Given the description of an element on the screen output the (x, y) to click on. 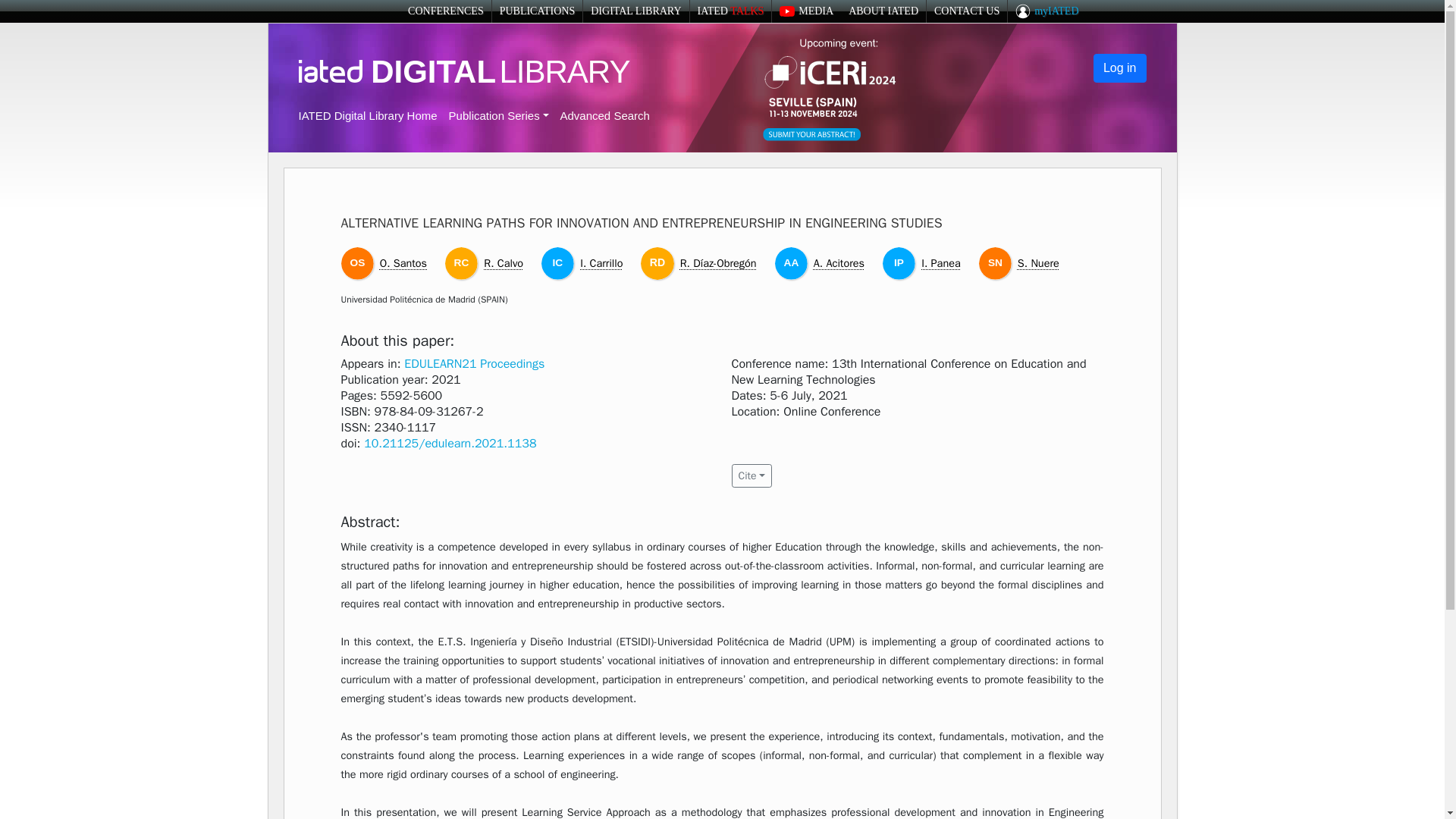
I. Carrillo (601, 263)
Cite (750, 475)
A. Acitores (838, 263)
MEDIA (805, 11)
doi (449, 443)
Log in (1120, 68)
PUBLICATIONS (537, 10)
CONFERENCES (445, 10)
S. Nuere (1038, 263)
myIATED (1046, 11)
